Given the description of an element on the screen output the (x, y) to click on. 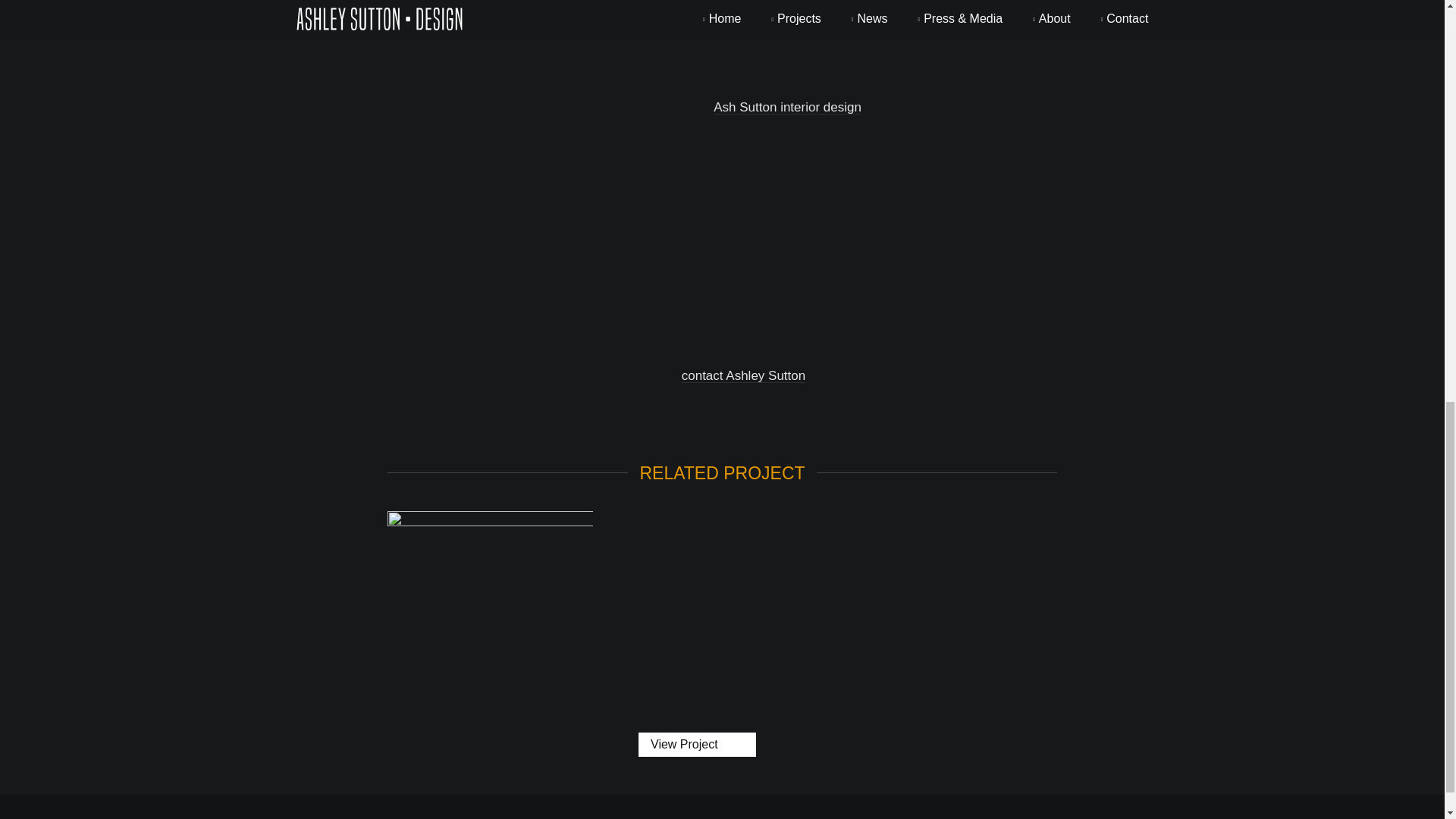
View Project (697, 744)
Sing Sing Theater (489, 597)
Ash Sutton interior design (787, 106)
contact Ashley Sutton (743, 375)
